Given the description of an element on the screen output the (x, y) to click on. 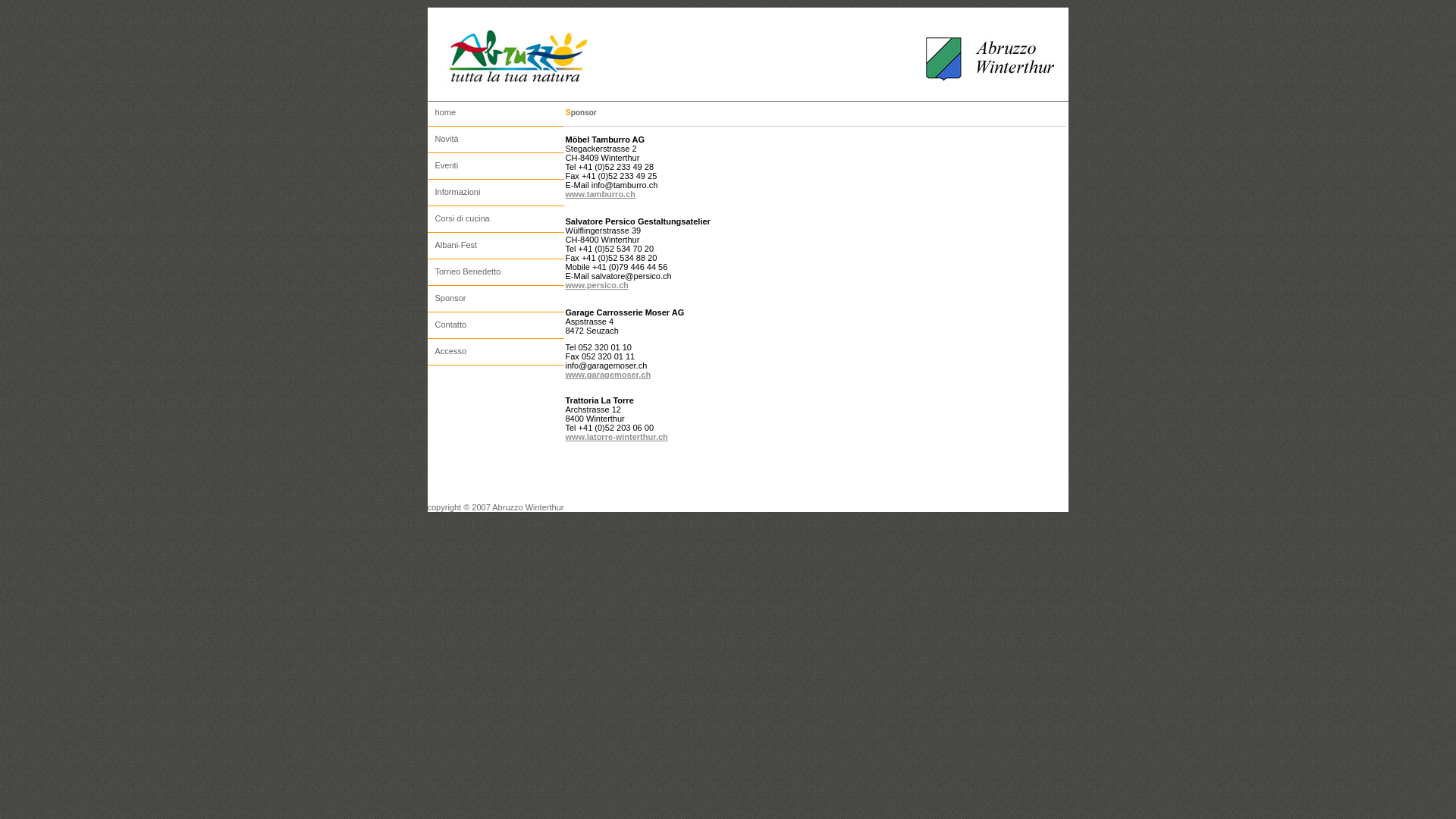
www.persico.ch Element type: text (596, 284)
Contatto Element type: text (495, 325)
Torneo Benedetto Element type: text (495, 272)
Eventi Element type: text (495, 166)
Corsi di cucina Element type: text (495, 219)
Sponsor Element type: text (495, 299)
home Element type: text (495, 113)
Accesso Element type: text (495, 352)
www.latorre-winterthur.ch Element type: text (616, 436)
Albani-Fest Element type: text (495, 246)
Informazioni Element type: text (495, 193)
www.garagemoser.ch Element type: text (608, 374)
www.tamburro.ch Element type: text (600, 193)
